Given the description of an element on the screen output the (x, y) to click on. 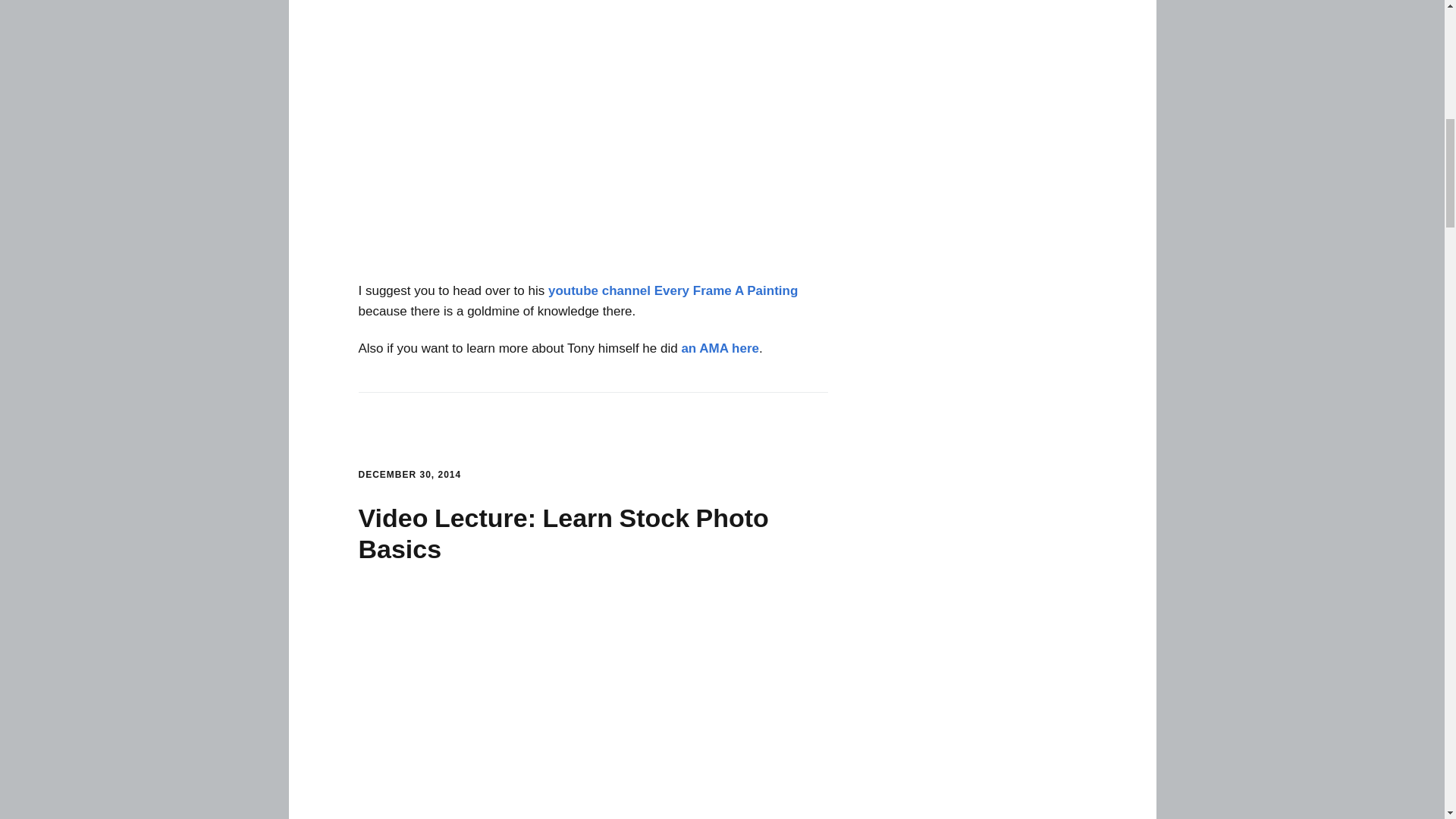
Video Lecture: Learn Stock Photo Basics (563, 533)
youtube channel Every Frame A Painting (672, 290)
an AMA here (719, 348)
Michael Bay - What is Bayhem? (593, 131)
DECEMBER 30, 2014 (409, 474)
ShutterTalk Live: How to shoot stock photography (593, 703)
